Given the description of an element on the screen output the (x, y) to click on. 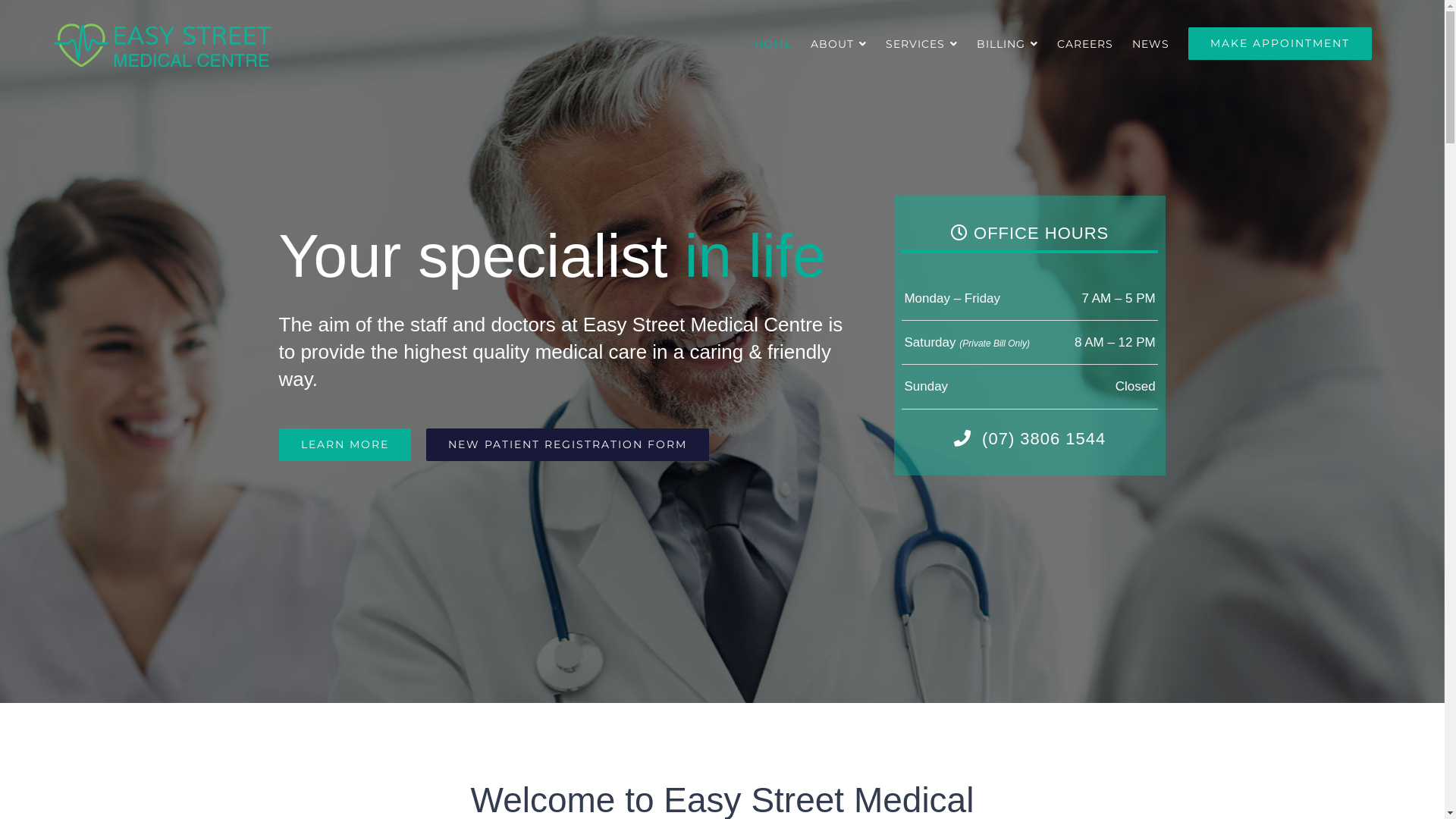
NEWS Element type: text (1150, 43)
CAREERS Element type: text (1085, 43)
NEW PATIENT REGISTRATION FORM Element type: text (567, 444)
HOME Element type: text (772, 43)
ABOUT Element type: text (838, 43)
(07) 3806 1544 Element type: text (1043, 438)
SERVICES Element type: text (921, 43)
MAKE APPOINTMENT Element type: text (1279, 43)
BILLING Element type: text (1007, 43)
LEARN MORE Element type: text (345, 444)
